Given the description of an element on the screen output the (x, y) to click on. 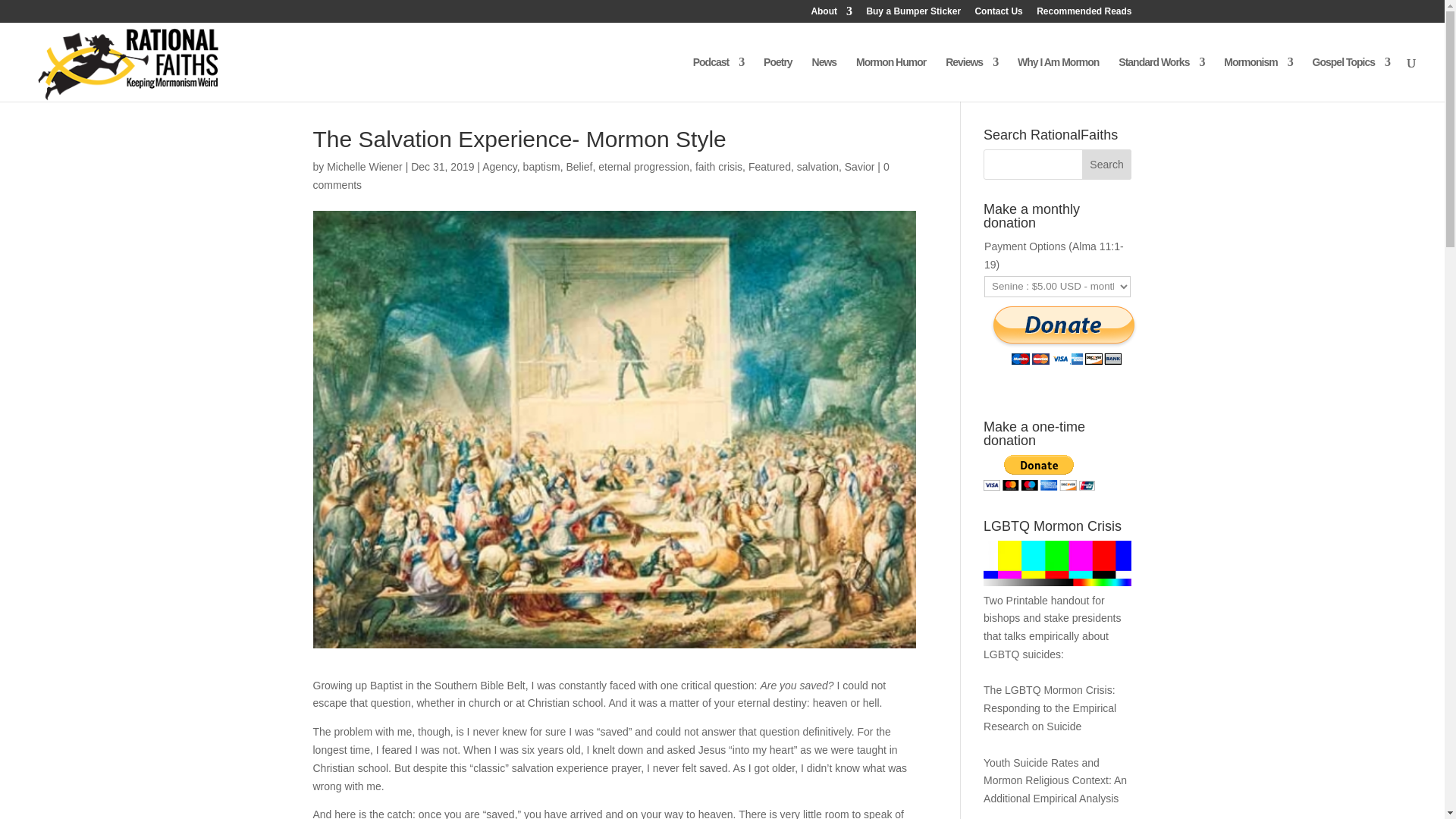
Mormonism (1258, 78)
Reviews (970, 78)
About (830, 14)
Buy a Bumper Sticker (913, 14)
Recommended Reads (1083, 14)
Contact Us (998, 14)
Mormon Humor (891, 78)
Podcast (718, 78)
Standard Works (1161, 78)
Posts by Michelle Wiener (364, 166)
